Given the description of an element on the screen output the (x, y) to click on. 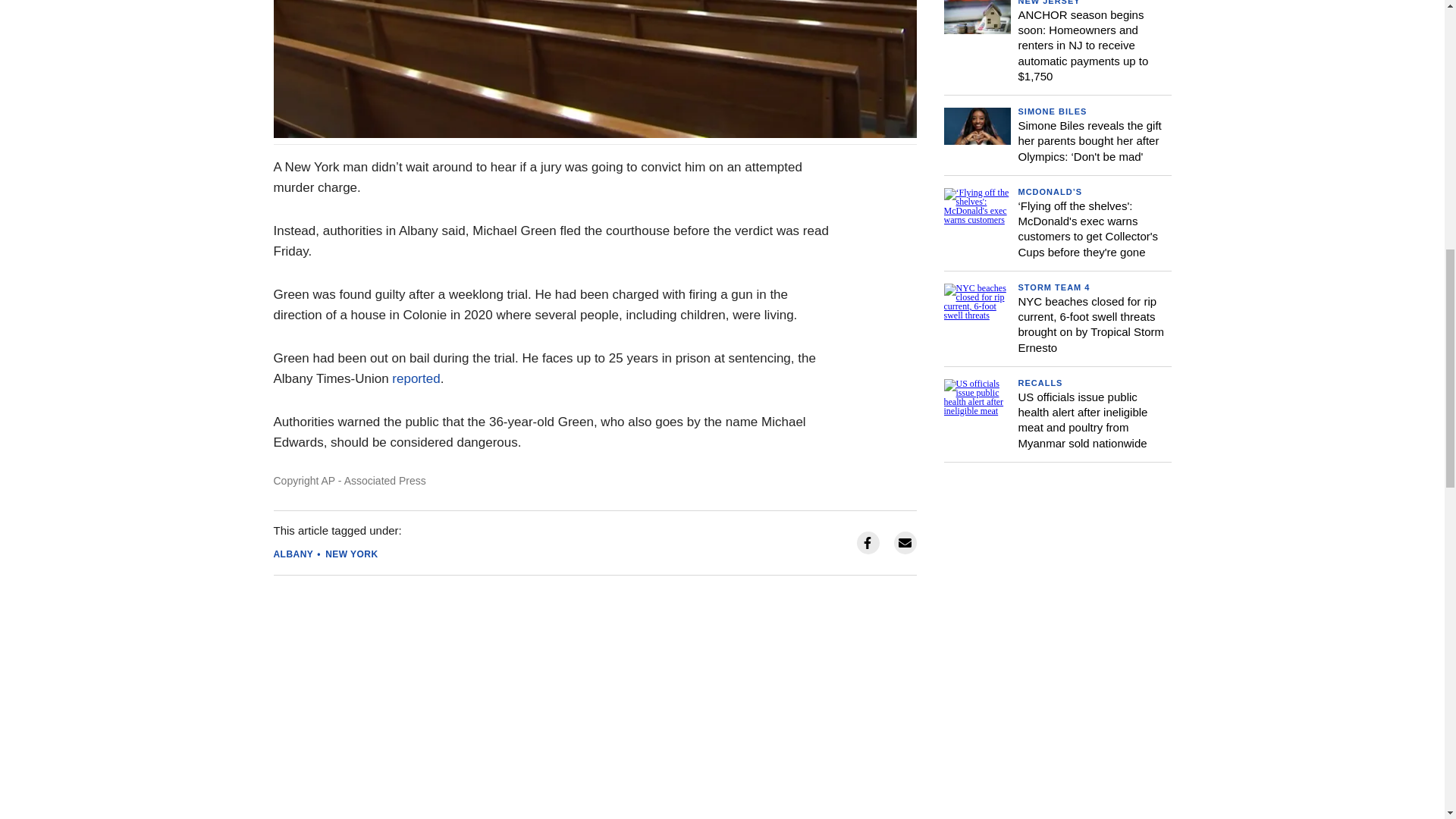
ALBANY (293, 553)
NEW JERSEY (1048, 2)
reported (415, 378)
NEW YORK (350, 553)
